Given the description of an element on the screen output the (x, y) to click on. 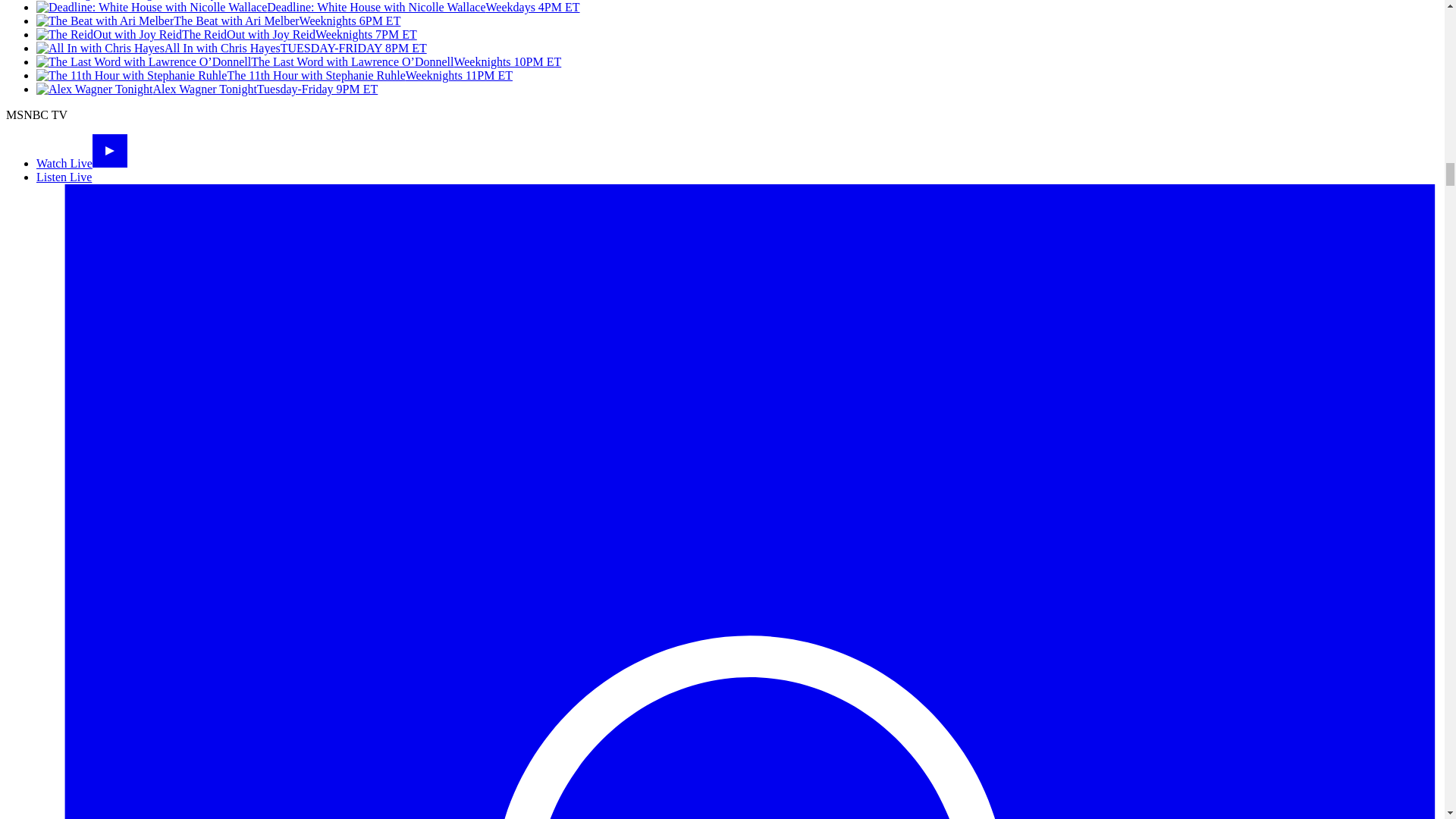
All In with Chris HayesTUESDAY-FRIDAY 8PM ET (231, 47)
Deadline: White House with Nicolle WallaceWeekdays 4PM ET (307, 6)
Watch Live (82, 163)
The ReidOut with Joy ReidWeeknights 7PM ET (226, 33)
The Beat with Ari MelberWeeknights 6PM ET (218, 20)
Alex Wagner TonightTuesday-Friday 9PM ET (206, 88)
The 11th Hour with Stephanie RuhleWeeknights 11PM ET (274, 74)
